Given the description of an element on the screen output the (x, y) to click on. 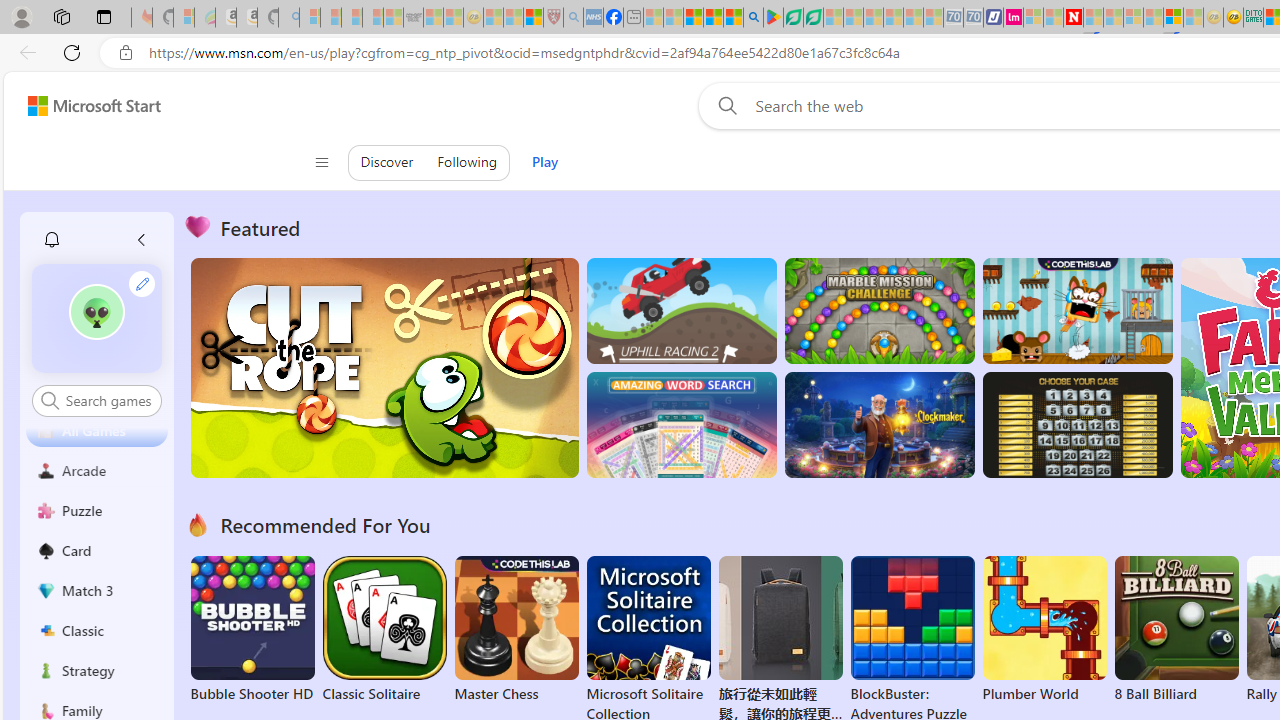
Bubble Shooter HD (251, 629)
Terms of Use Agreement (792, 17)
Classic Solitaire (384, 629)
